Given the description of an element on the screen output the (x, y) to click on. 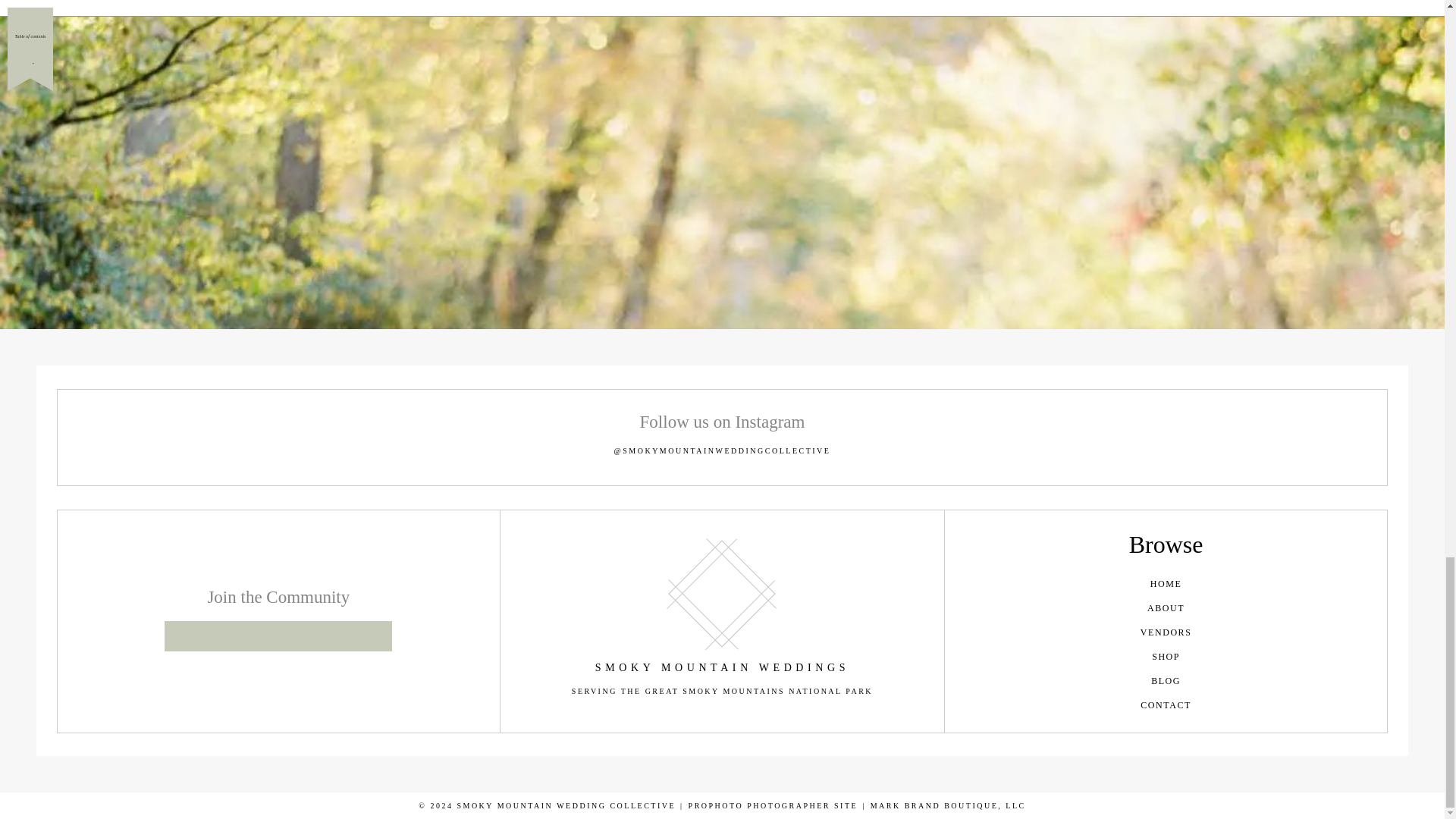
Follow us on Instagram (722, 421)
VENDORS (1165, 631)
BLOG (1165, 680)
ABOUT (1165, 607)
MARK BRAND BOUTIQUE, LLC (948, 805)
HOME (1165, 583)
SHOP (1165, 656)
ProPhoto7 (773, 805)
BECOME A MEMBER (277, 635)
PROPHOTO PHOTOGRAPHER SITE (773, 805)
